Given the description of an element on the screen output the (x, y) to click on. 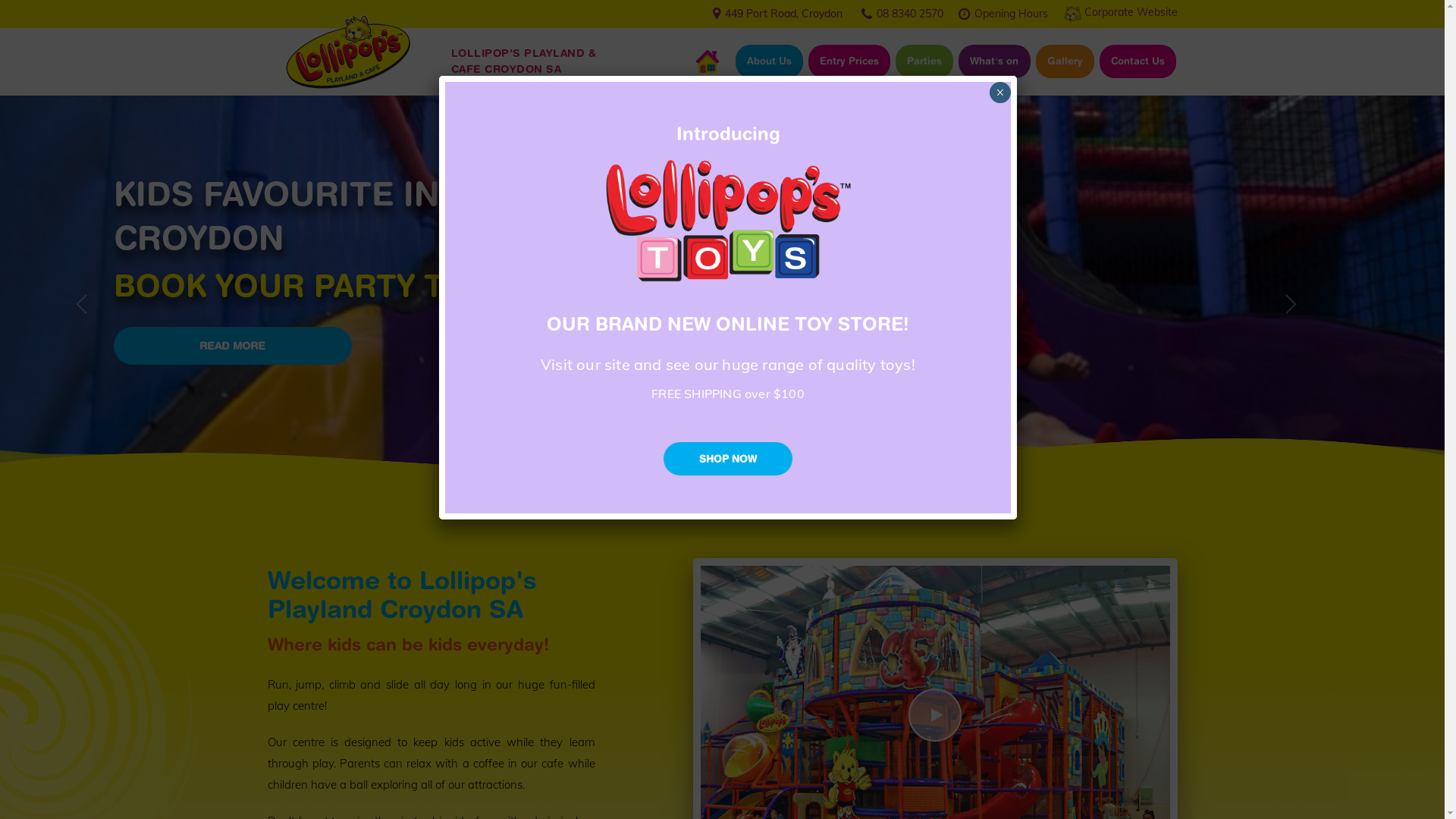
Entry Prices Element type: text (849, 61)
Next Element type: text (1290, 303)
Contact Us Element type: text (1137, 61)
Home Element type: text (707, 61)
Opening Hours Element type: text (1010, 12)
SHOP NOW Element type: text (727, 458)
08 8340 2570 Element type: text (909, 12)
Corporate Website Element type: text (1130, 11)
Previous Element type: text (81, 303)
READ MORE Element type: text (232, 345)
449 Port Road, Croydon Element type: text (783, 13)
Gallery Element type: text (1064, 61)
About Us Element type: text (769, 61)
Parties Element type: text (924, 61)
